Given the description of an element on the screen output the (x, y) to click on. 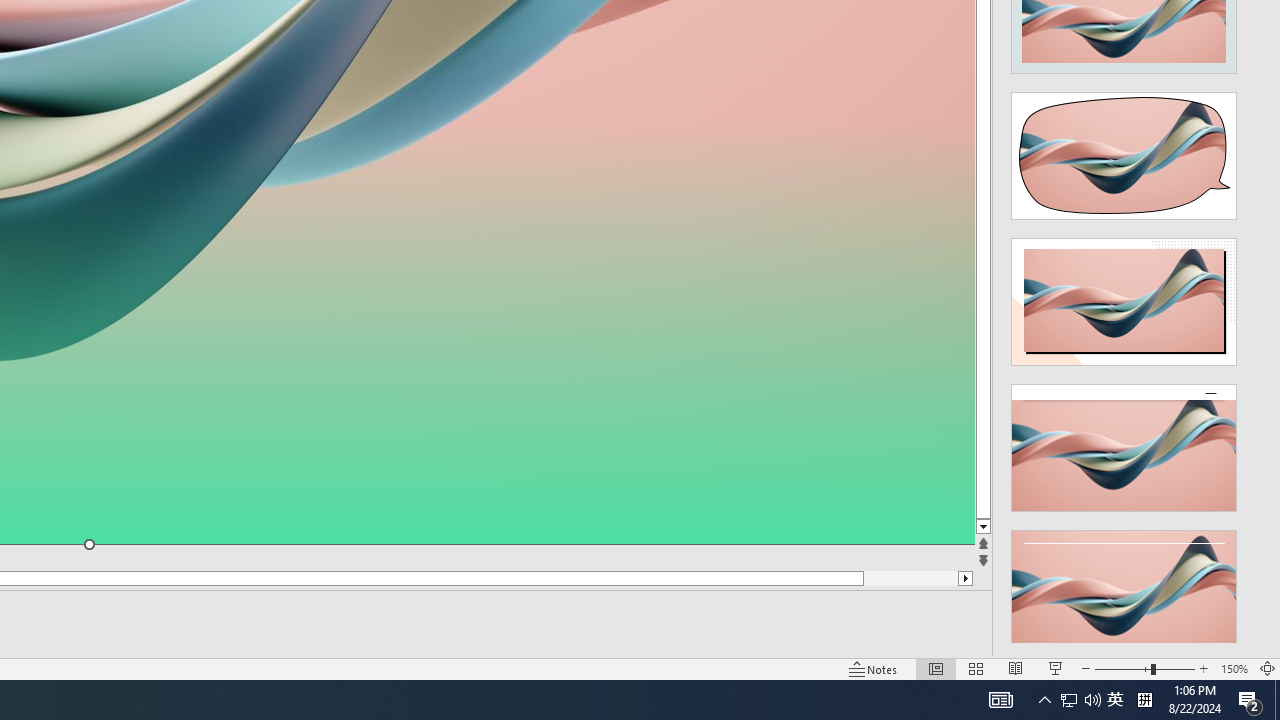
Design Idea (1124, 587)
Zoom 150% (1234, 668)
